Given the description of an element on the screen output the (x, y) to click on. 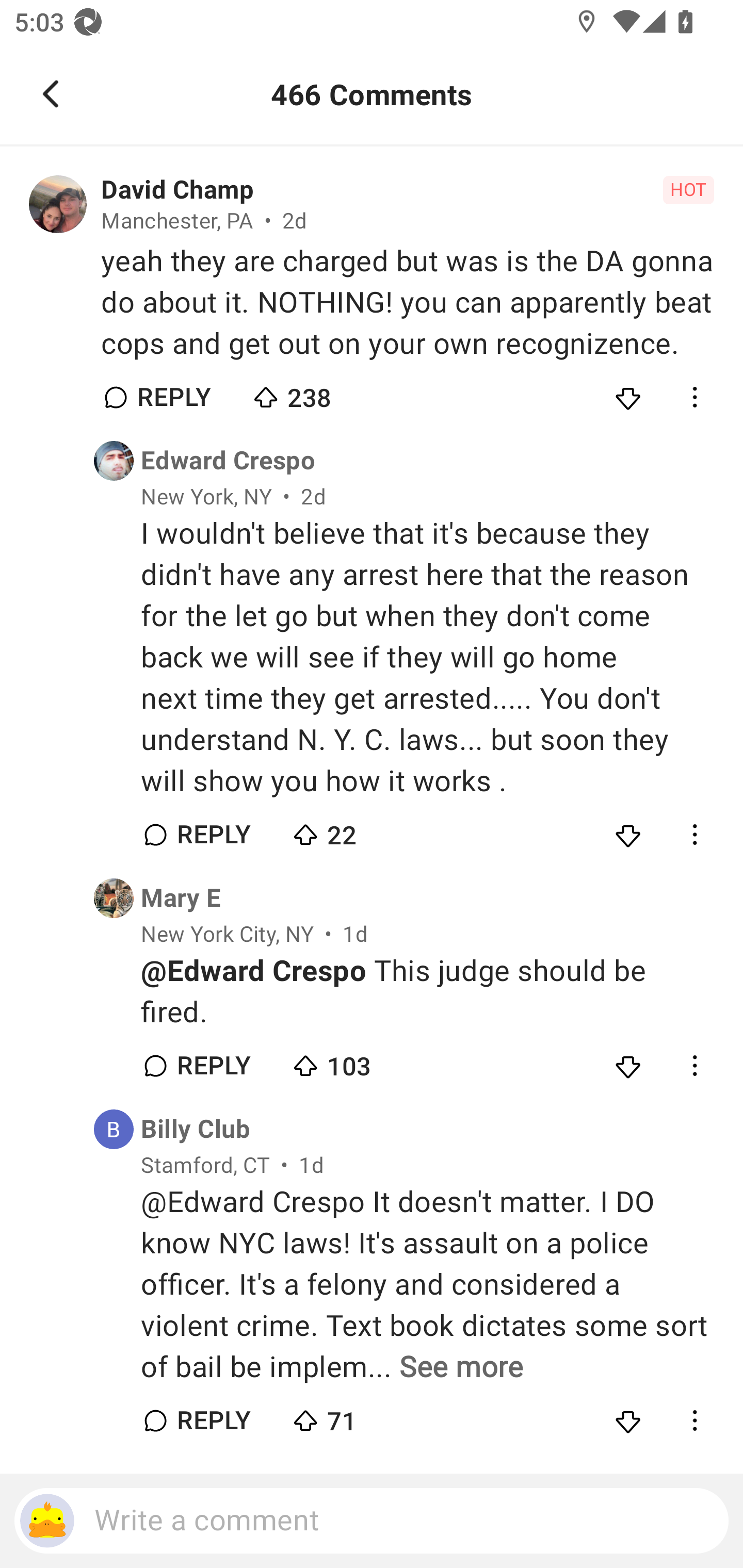
Navigate up (50, 93)
David Champ (177, 190)
238 (320, 392)
REPLY (173, 397)
Edward Crespo (228, 460)
22 (360, 830)
REPLY (213, 834)
Mary E (181, 897)
@Edward Crespo This judge should be fired.  (427, 992)
103 (360, 1061)
REPLY (213, 1065)
Billy Club (195, 1129)
71 (360, 1416)
REPLY (213, 1421)
Write a comment (371, 1520)
